Given the description of an element on the screen output the (x, y) to click on. 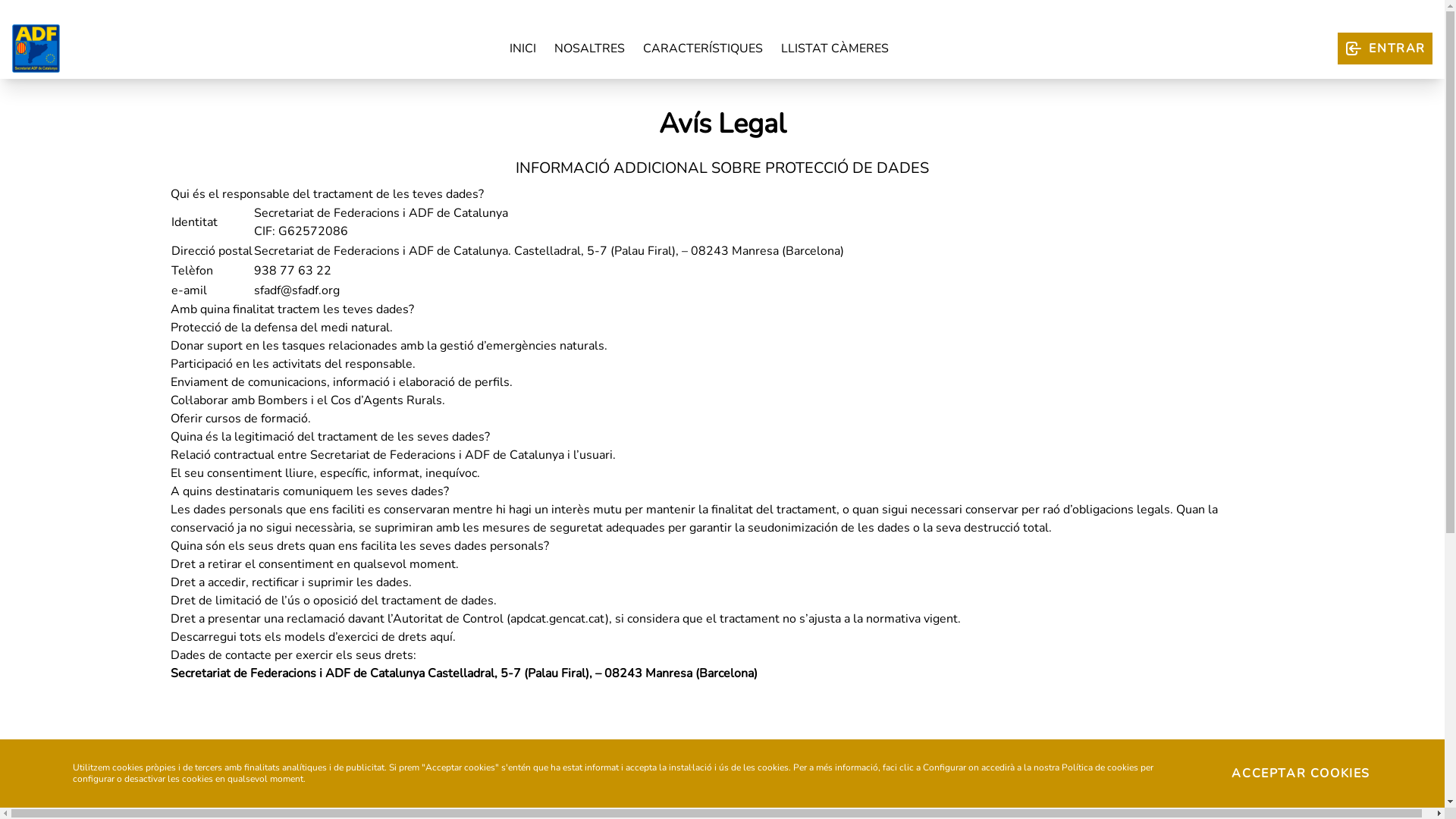
INICI Element type: text (522, 48)
NOSALTRES Element type: text (589, 48)
ENTRAR Element type: text (1384, 48)
ACCEPTAR COOKIES Element type: text (1300, 773)
